Given the description of an element on the screen output the (x, y) to click on. 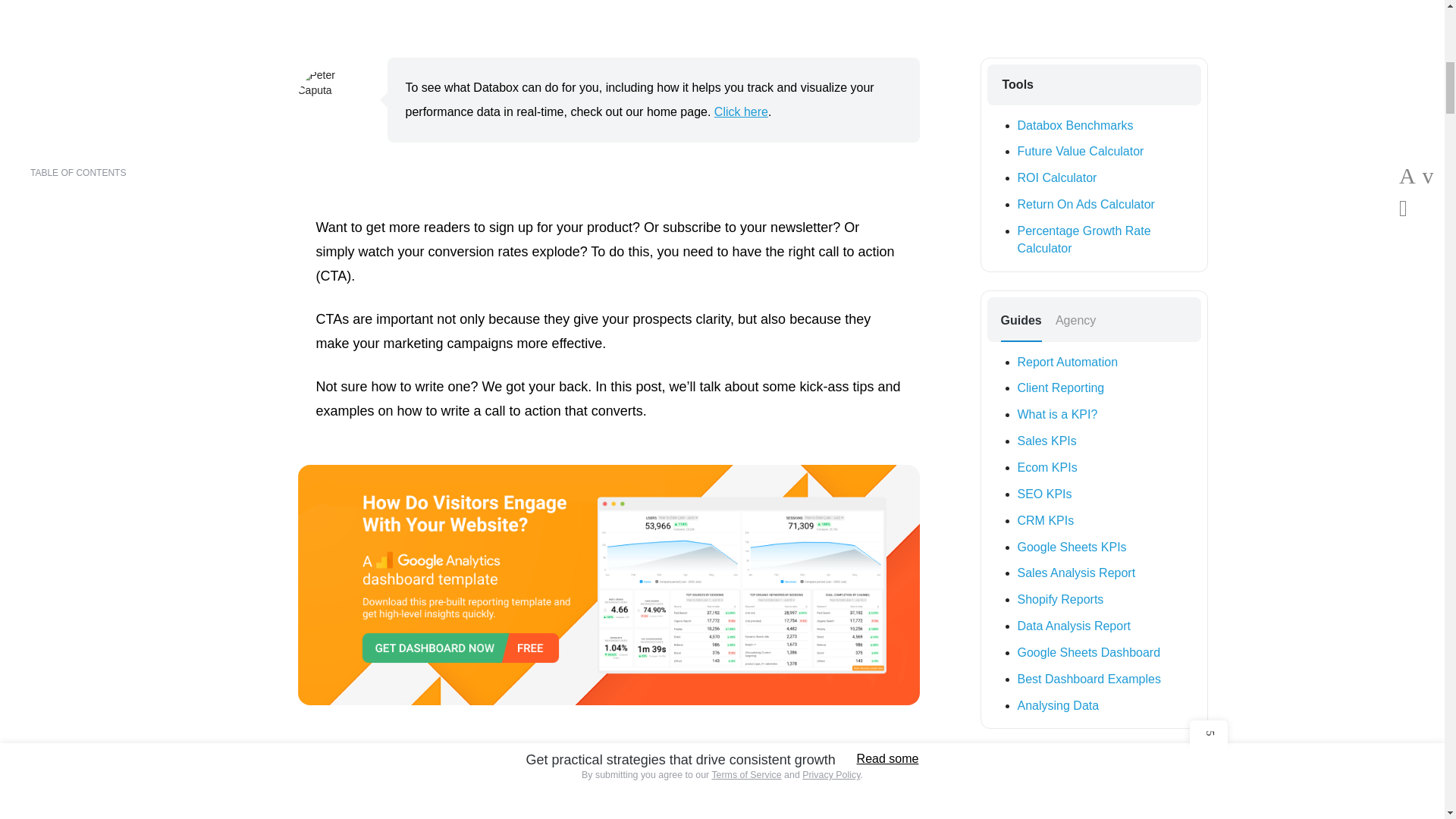
Guides (1021, 319)
Agency (1075, 319)
